Given the description of an element on the screen output the (x, y) to click on. 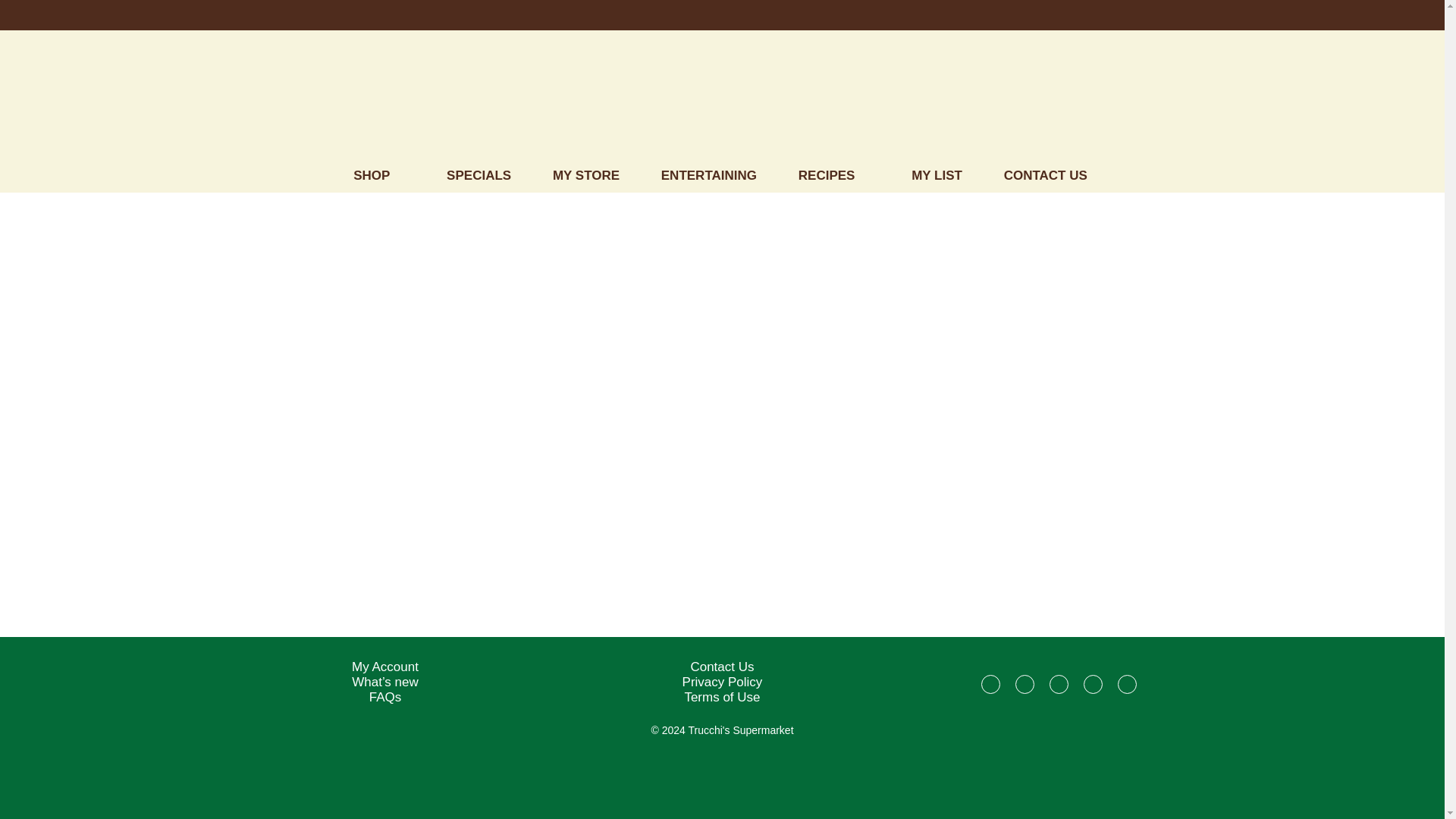
RECIPES (841, 175)
SPECIALS (485, 175)
Terms of Use (722, 697)
instagram (1023, 689)
facebook (990, 689)
ENTERTAINING (716, 175)
Contact Us (722, 667)
MY STORE (593, 175)
youtube (1127, 689)
pinterest (1092, 689)
